Given the description of an element on the screen output the (x, y) to click on. 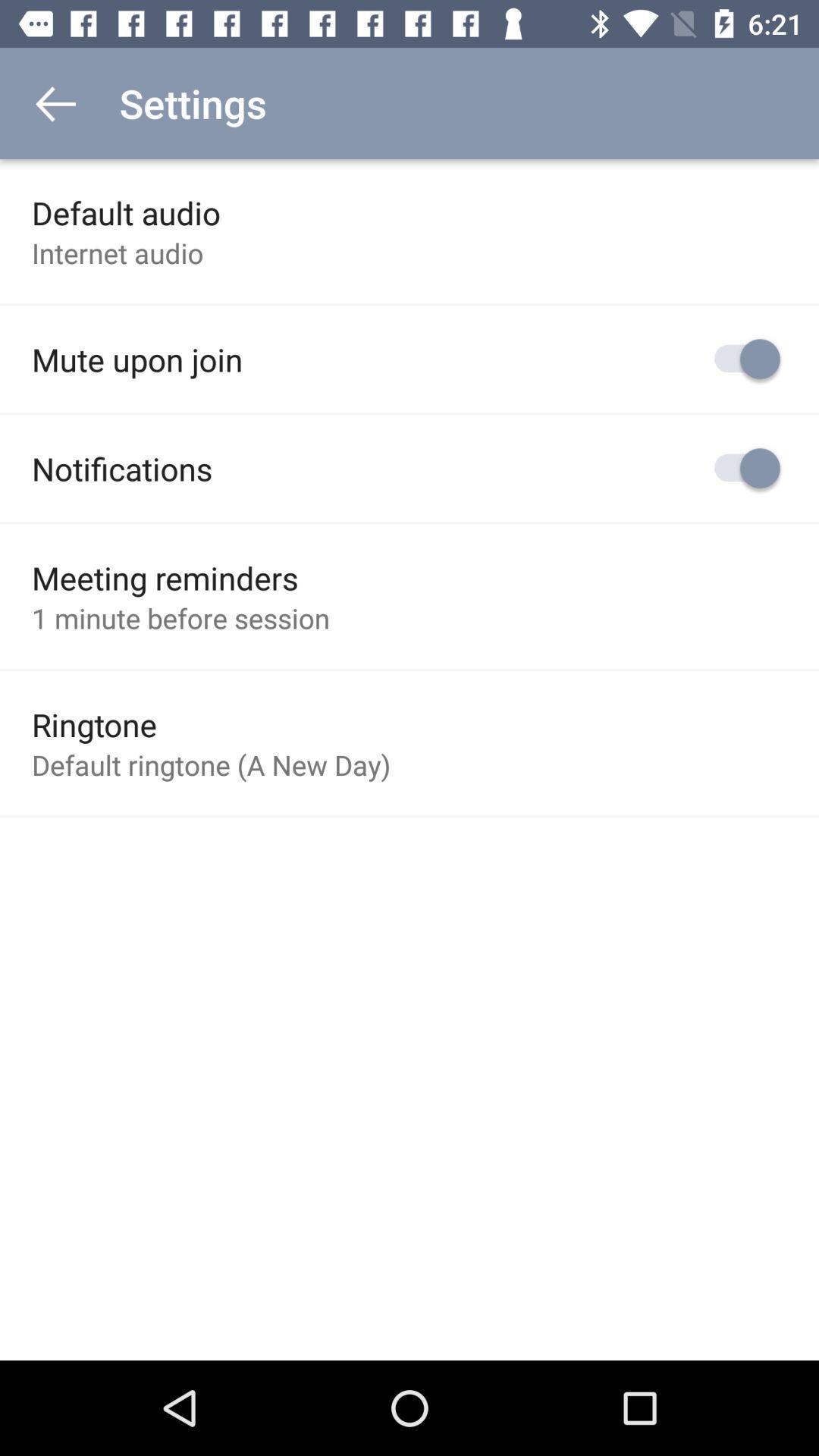
turn off the icon below default audio icon (117, 252)
